Given the description of an element on the screen output the (x, y) to click on. 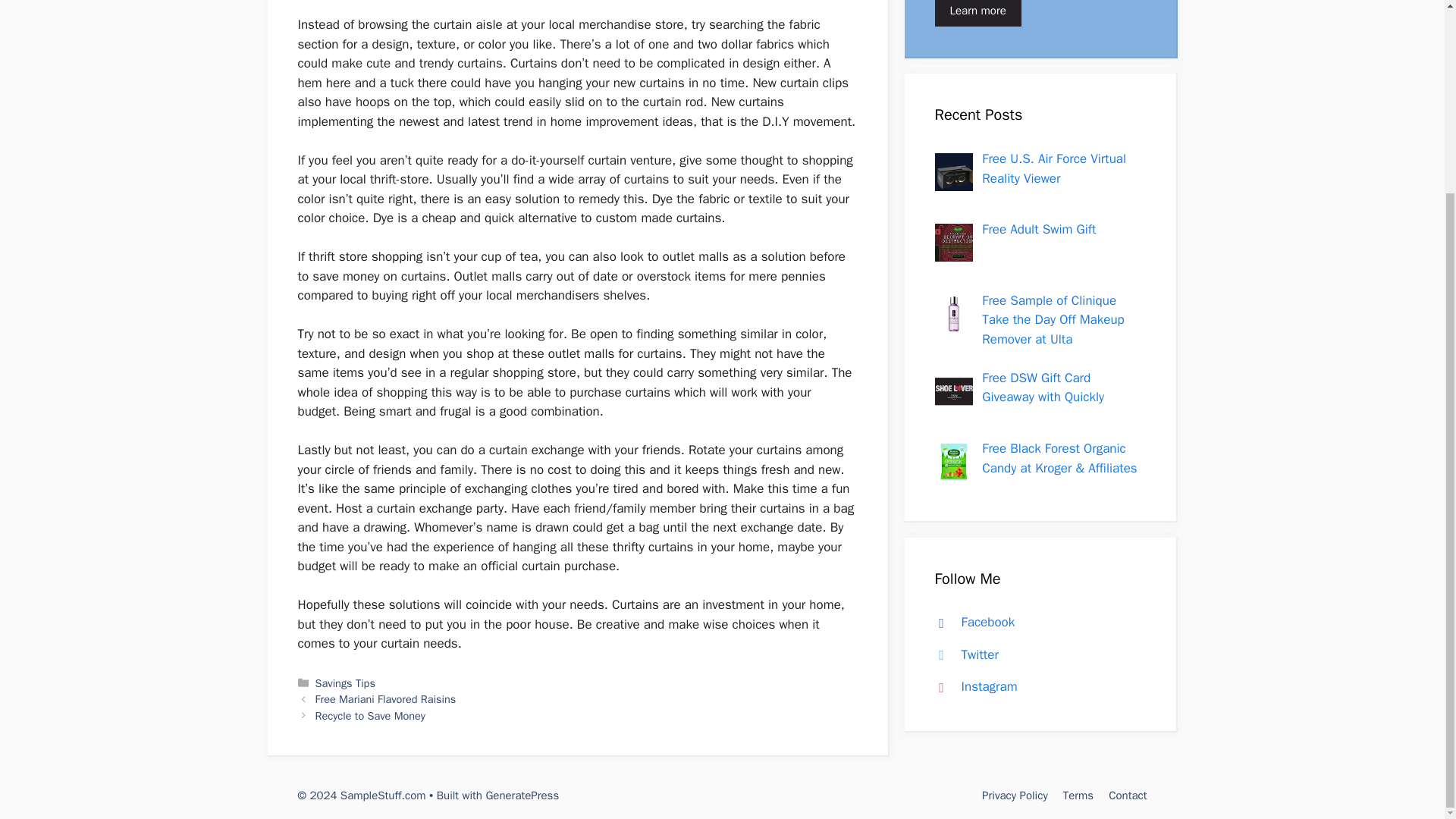
Twitter (962, 654)
Recycle to Save Money (370, 715)
Facebook (971, 621)
Instagram (972, 686)
Free Adult Swim Gift (1038, 229)
GeneratePress (521, 795)
Free DSW Gift Card Giveaway with Quickly (1042, 387)
Previous (386, 698)
Savings Tips (345, 683)
Free Mariani Flavored Raisins (386, 698)
Next (370, 715)
Twitter (962, 654)
Privacy Policy (1014, 795)
Free U.S. Air Force Virtual Reality Viewer (1053, 168)
